Given the description of an element on the screen output the (x, y) to click on. 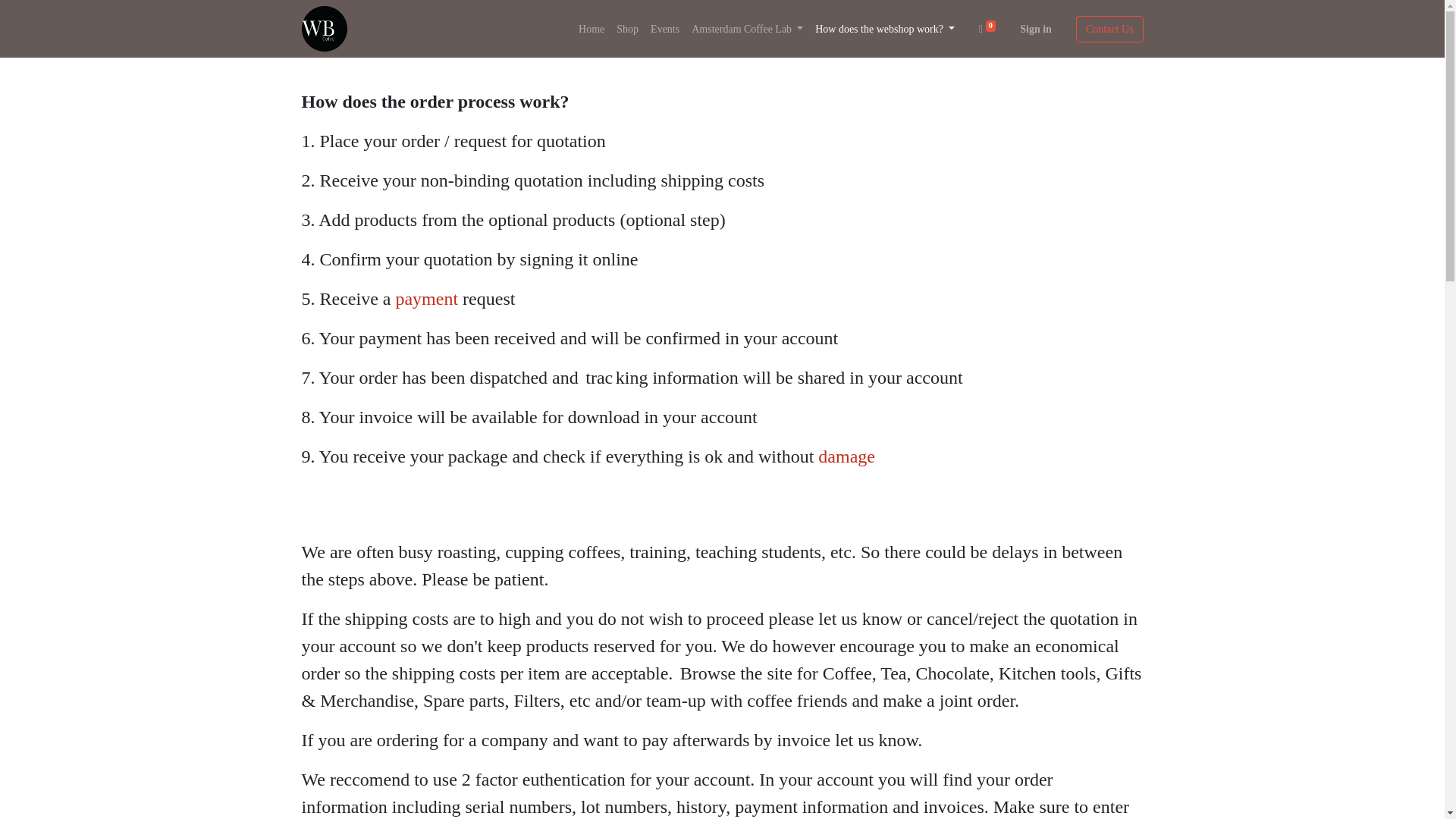
Home (591, 29)
damage (846, 456)
WB.coffee (324, 28)
Sign in (1035, 29)
Contact Us (1108, 28)
payment (426, 298)
Events (665, 29)
Shop (627, 29)
Amsterdam Coffee Lab (747, 29)
How does the webshop work? (884, 29)
0 (986, 29)
